Given the description of an element on the screen output the (x, y) to click on. 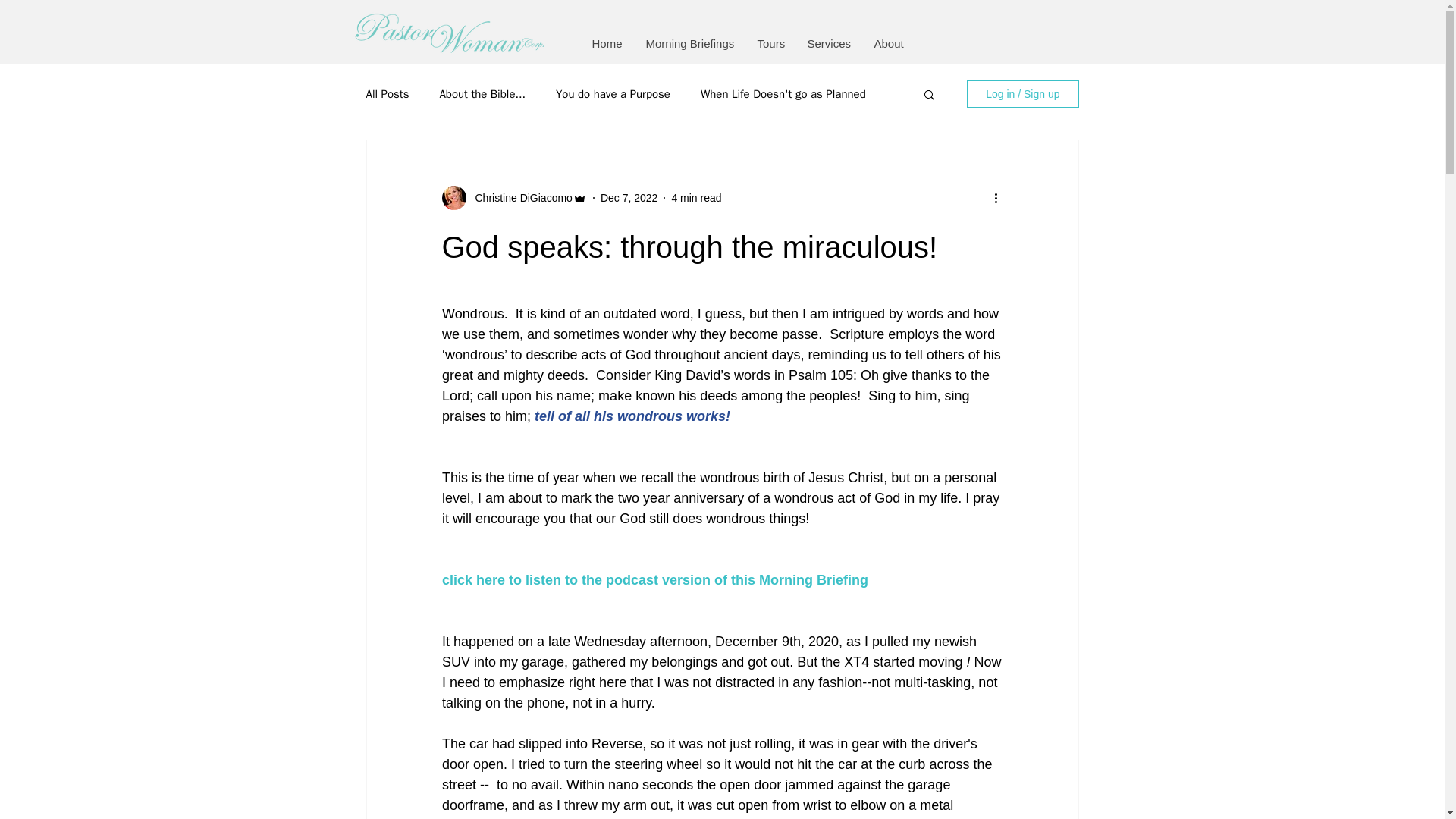
All Posts (387, 93)
When Life Doesn't go as Planned (783, 93)
Christine DiGiacomo (518, 197)
About the Bible... (482, 93)
Dec 7, 2022 (628, 196)
Tours (769, 43)
4 min read (695, 196)
Home (606, 43)
You do have a Purpose (612, 93)
